Given the description of an element on the screen output the (x, y) to click on. 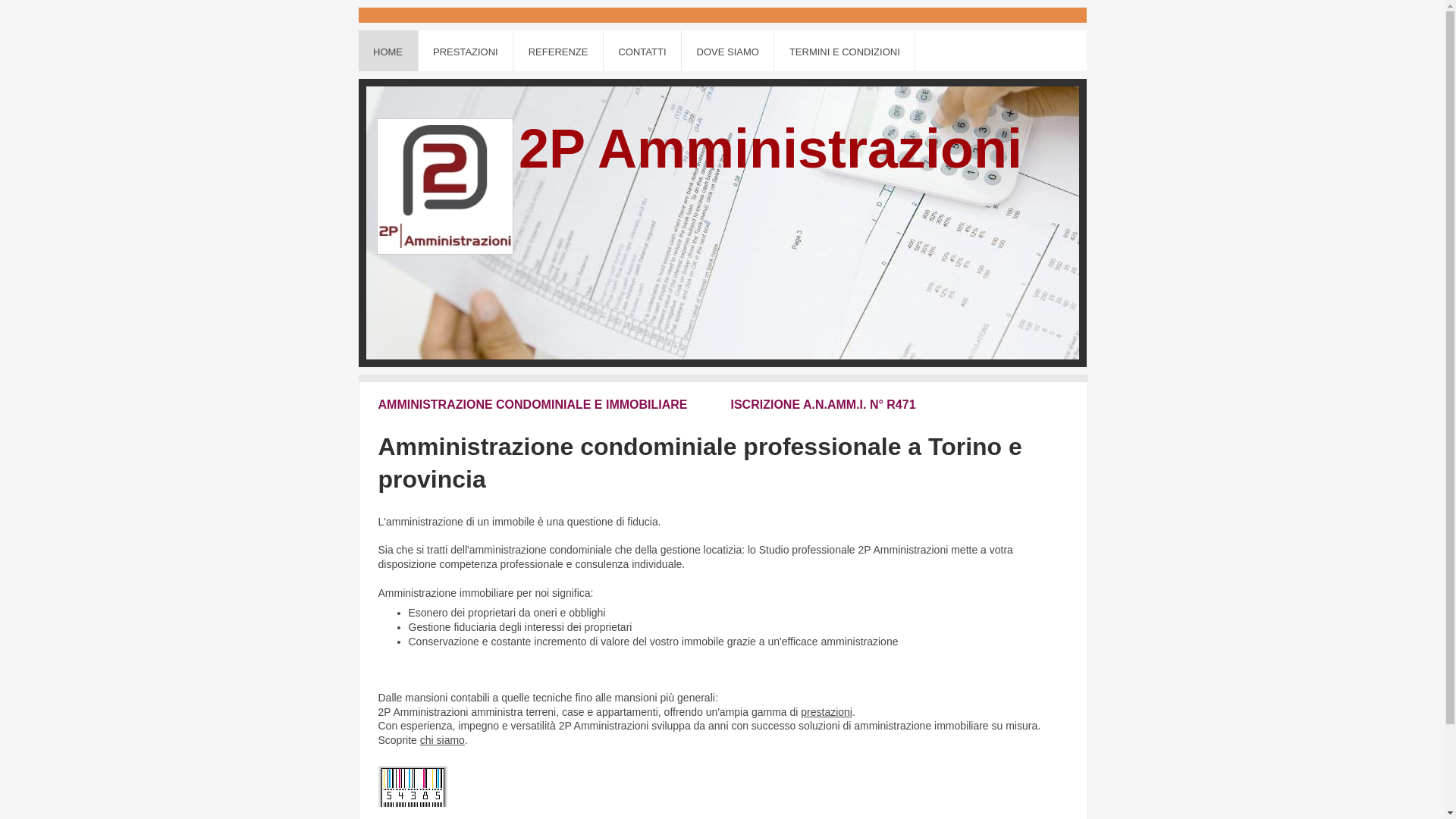
TERMINI E CONDIZIONI Element type: text (844, 50)
REFERENZE Element type: text (558, 50)
CONTATTI Element type: text (642, 50)
PRESTAZIONI Element type: text (466, 50)
HOME Element type: text (387, 50)
prestazioni Element type: text (826, 712)
DOVE SIAMO Element type: text (727, 50)
chi siamo Element type: text (442, 740)
